Given the description of an element on the screen output the (x, y) to click on. 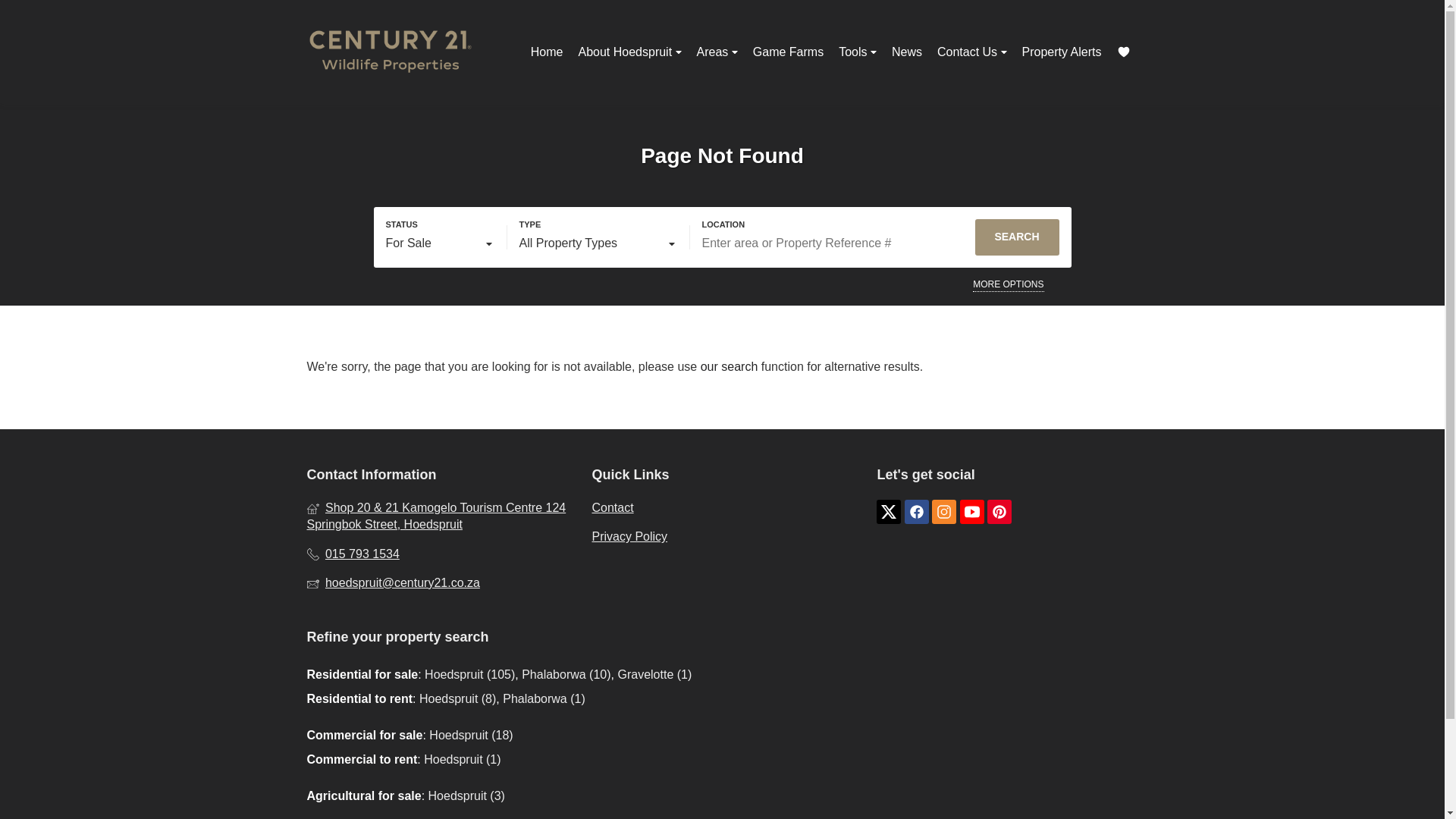
News (906, 51)
Contact (721, 507)
Favourites (1122, 51)
Game Farms (788, 51)
Century21 Wildlife youtube page (971, 511)
Favourites (1122, 51)
015 793 1534 (436, 554)
our search (729, 366)
Century21 Wildlife facebook page (916, 511)
Century21 Wildlife X page (888, 511)
Century21 Wildlife instagram page (943, 511)
Property Alerts (1061, 51)
Home (546, 51)
Game farms, bush houses, property for sale Hoedspruit (389, 51)
Privacy Policy (721, 536)
